Given the description of an element on the screen output the (x, y) to click on. 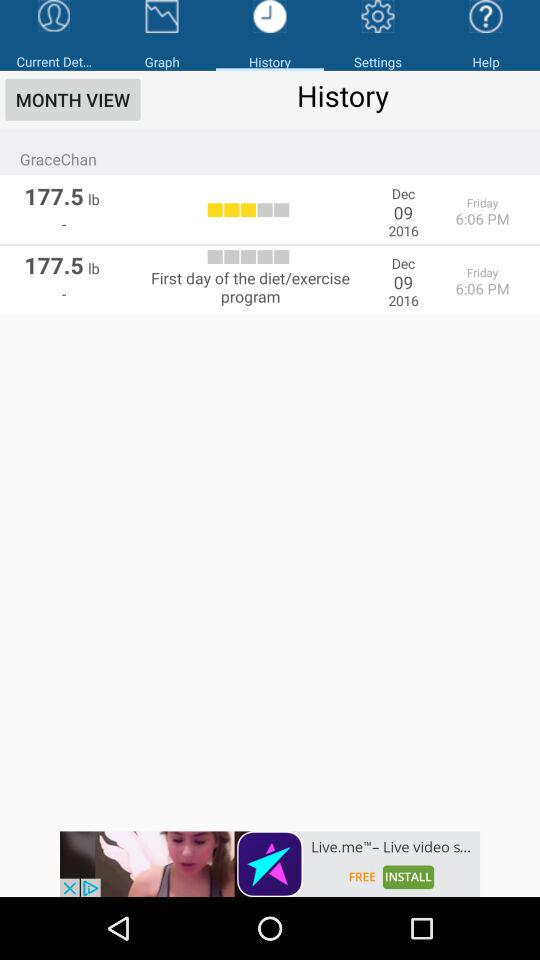
open webpage of displayed advertisement (270, 864)
